Given the description of an element on the screen output the (x, y) to click on. 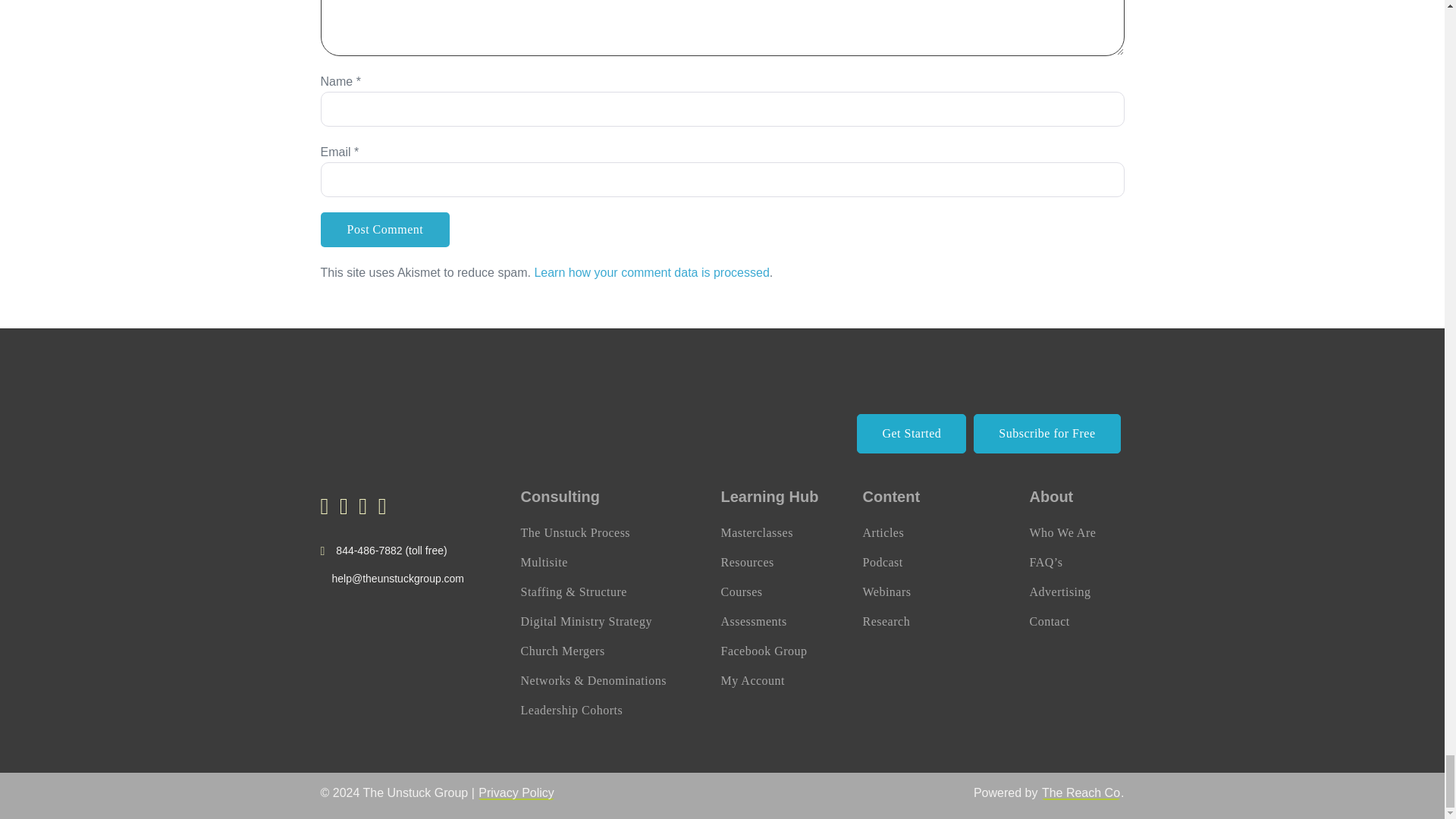
Post Comment (384, 229)
Consulting (558, 496)
unstuck-group-light-logo (394, 415)
